Given the description of an element on the screen output the (x, y) to click on. 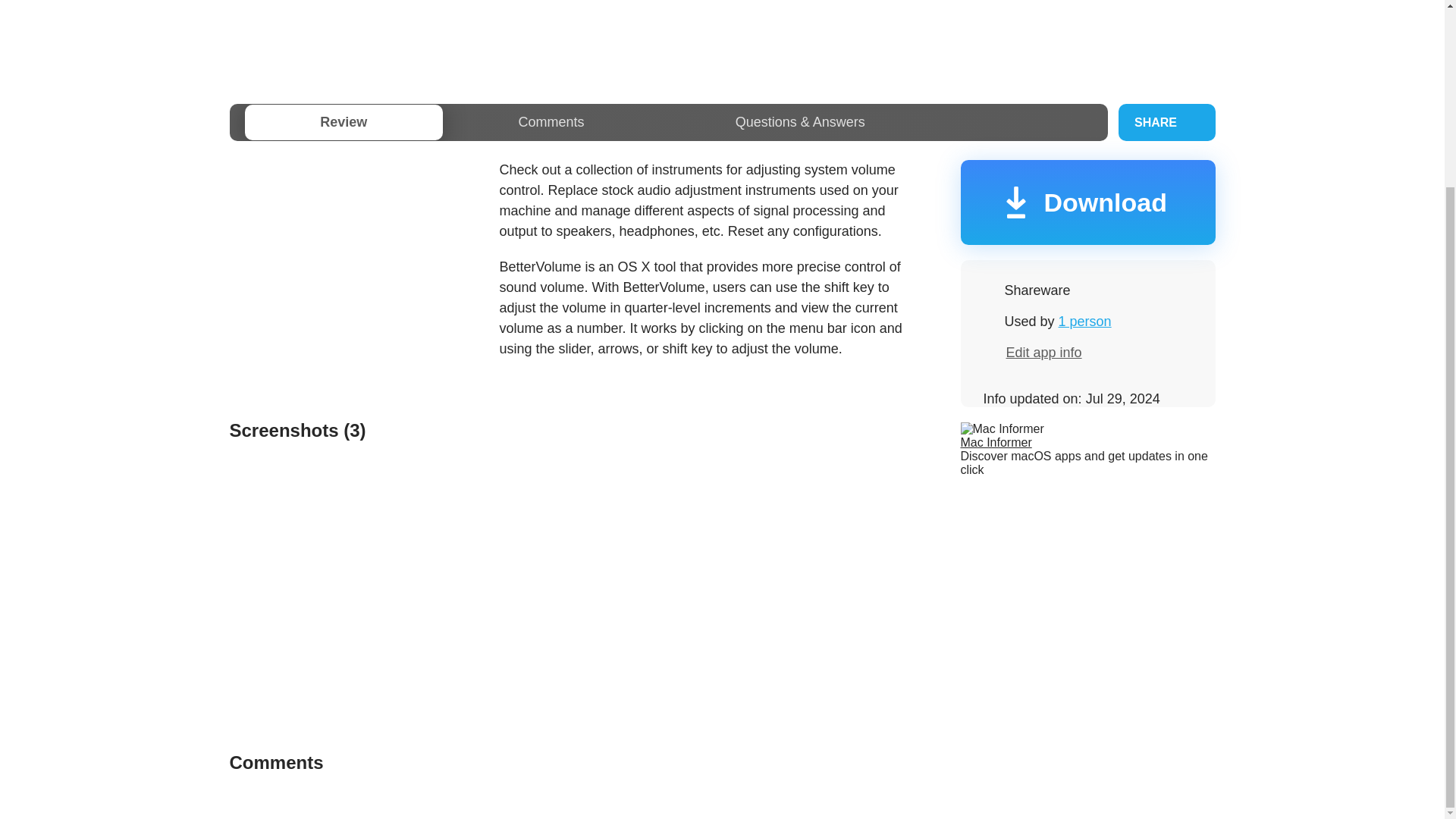
SHARE (1166, 122)
Download BetterVolume (1086, 201)
Mac Informer (994, 441)
Advertisement (721, 36)
Advertisement (355, 265)
Comments (550, 122)
Download (1086, 201)
1 person (1085, 321)
Review (343, 122)
Review (343, 122)
Comments (550, 122)
